Given the description of an element on the screen output the (x, y) to click on. 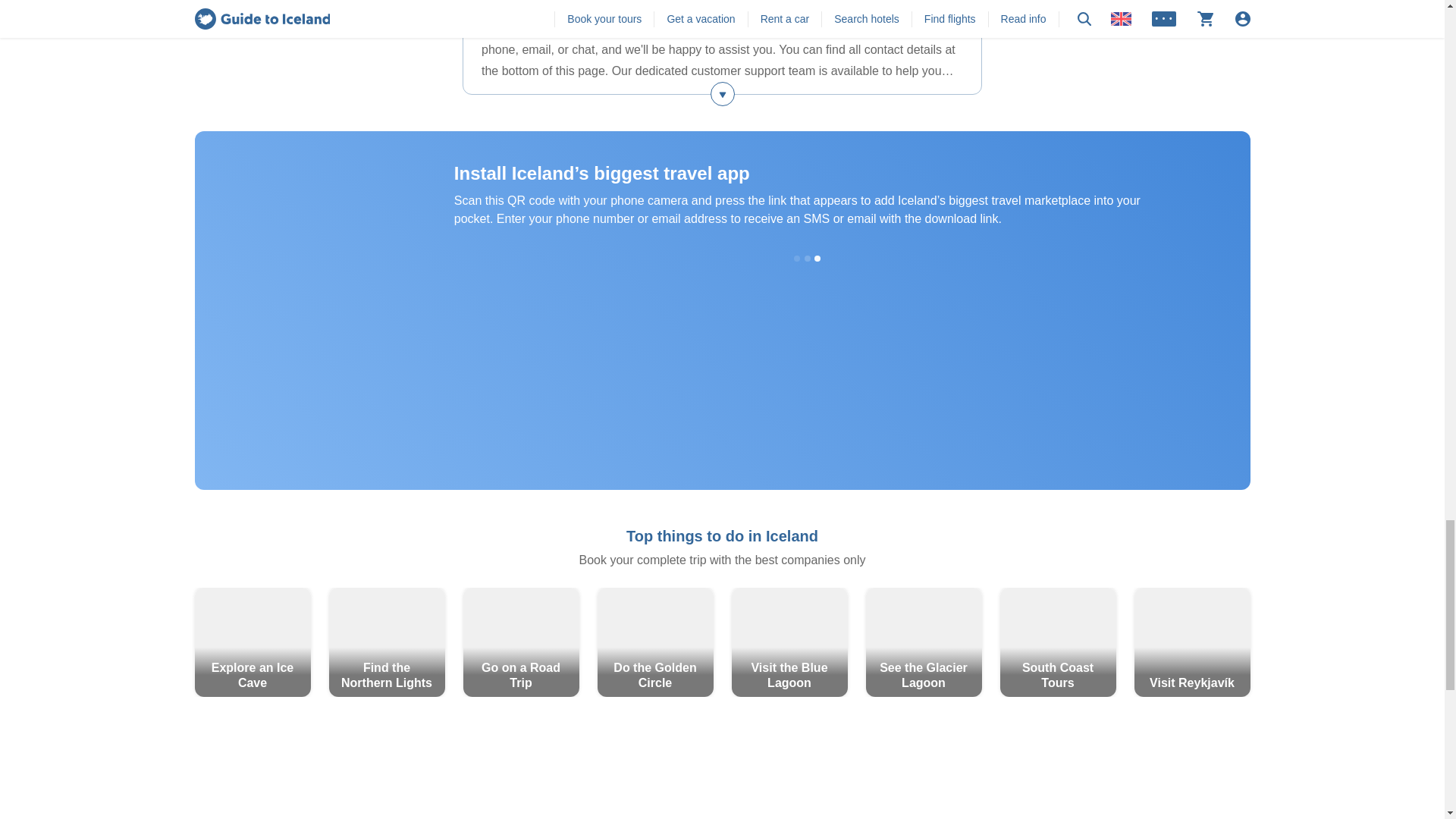
Explore an Ice Cave (251, 642)
Do the Golden Circle (655, 642)
Go on a Road Trip (520, 642)
See the Glacier Lagoon (924, 642)
Find the Northern Lights (387, 642)
Visit the Blue Lagoon (789, 642)
South Coast Tours (1057, 642)
